Given the description of an element on the screen output the (x, y) to click on. 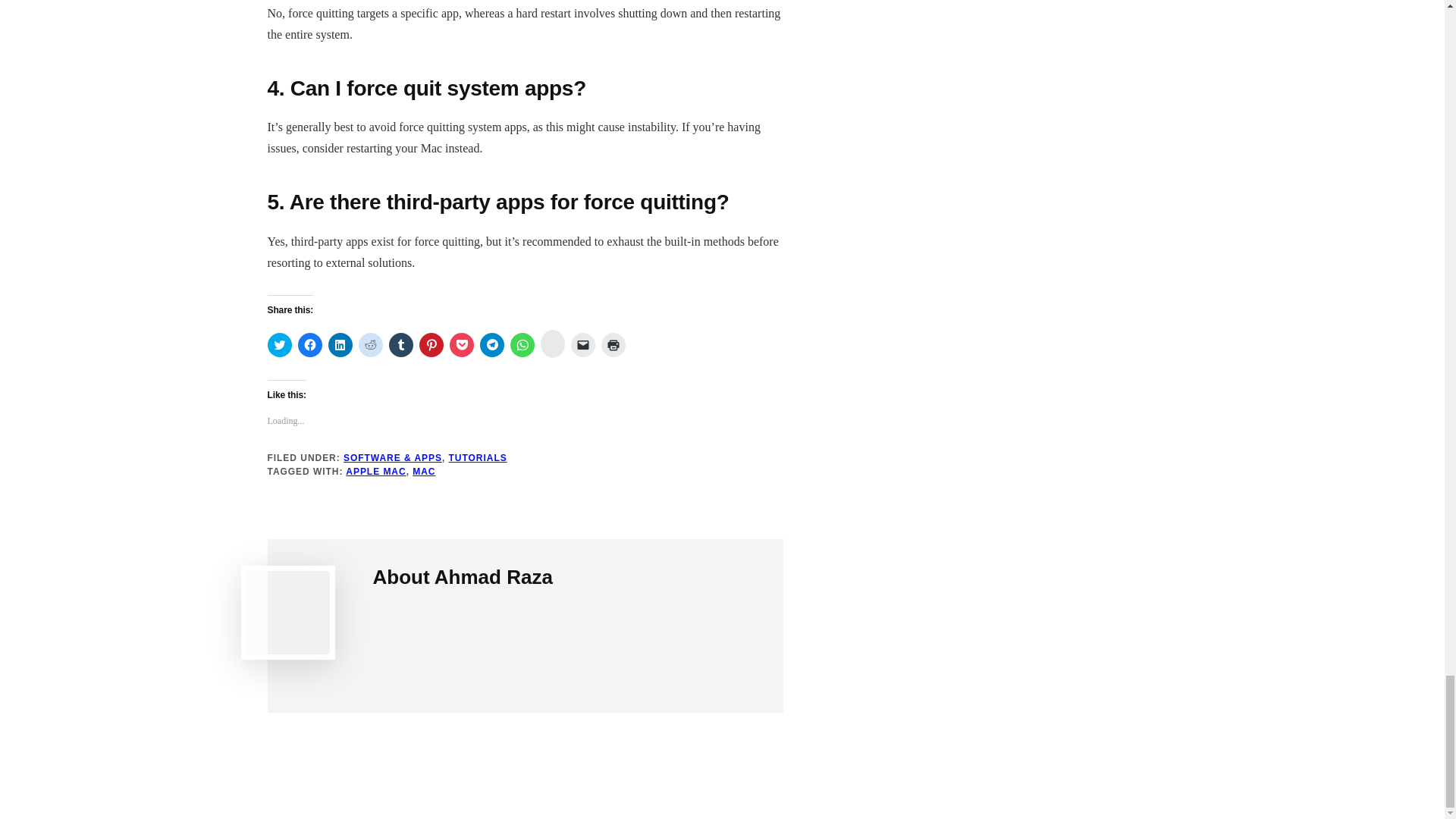
Click to share on WhatsApp (521, 344)
Click to share on Telegram (491, 344)
Click to share on Tumblr (400, 344)
Click to share on Pocket (460, 344)
Click to share on Facebook (309, 344)
Click to share on LinkedIn (339, 344)
Click to share on Twitter (278, 344)
Click to share on Reddit (369, 344)
Click to share on Pinterest (430, 344)
